Given the description of an element on the screen output the (x, y) to click on. 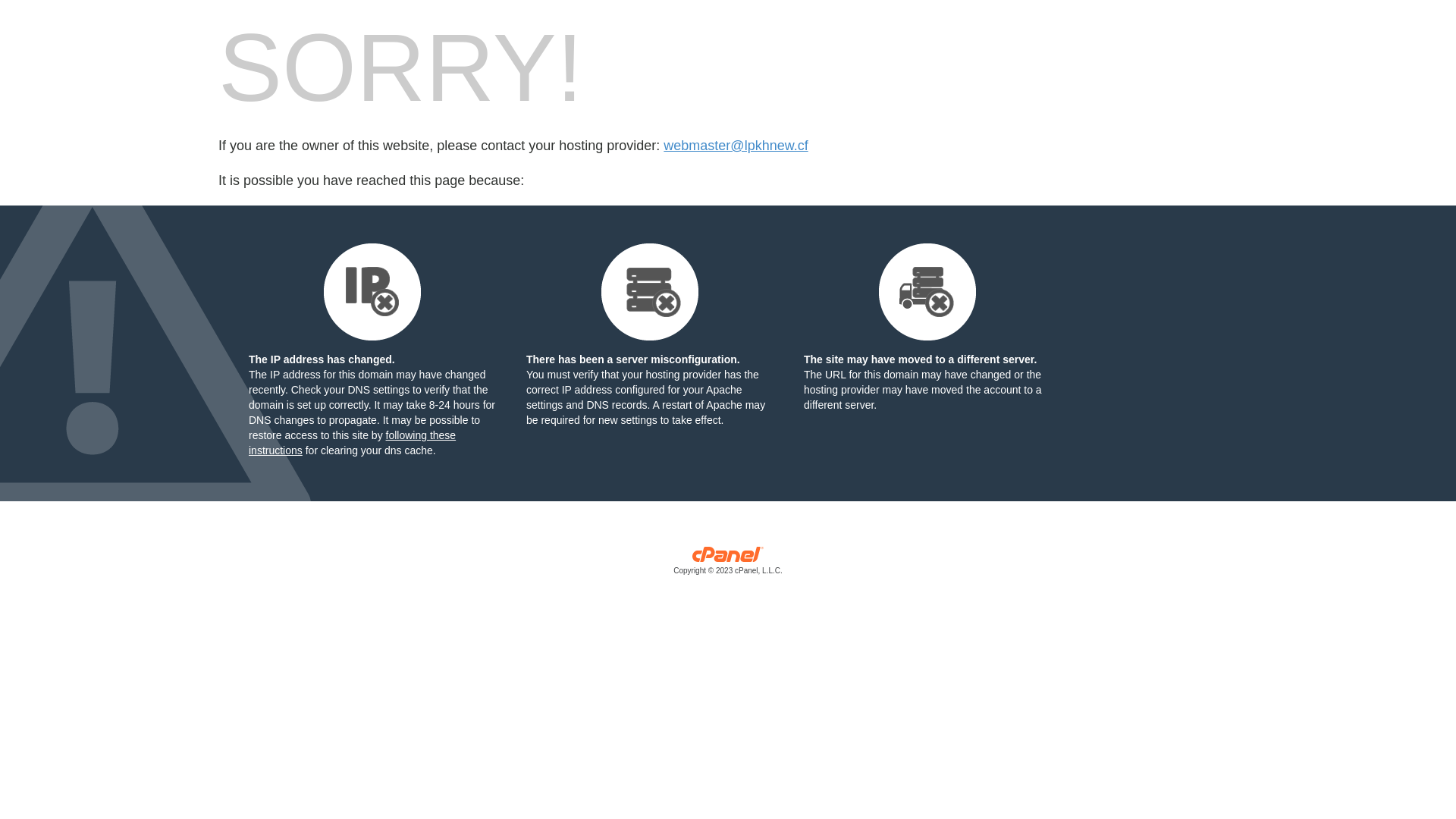
following these instructions Element type: text (351, 442)
webmaster@lpkhnew.cf Element type: text (735, 145)
